Given the description of an element on the screen output the (x, y) to click on. 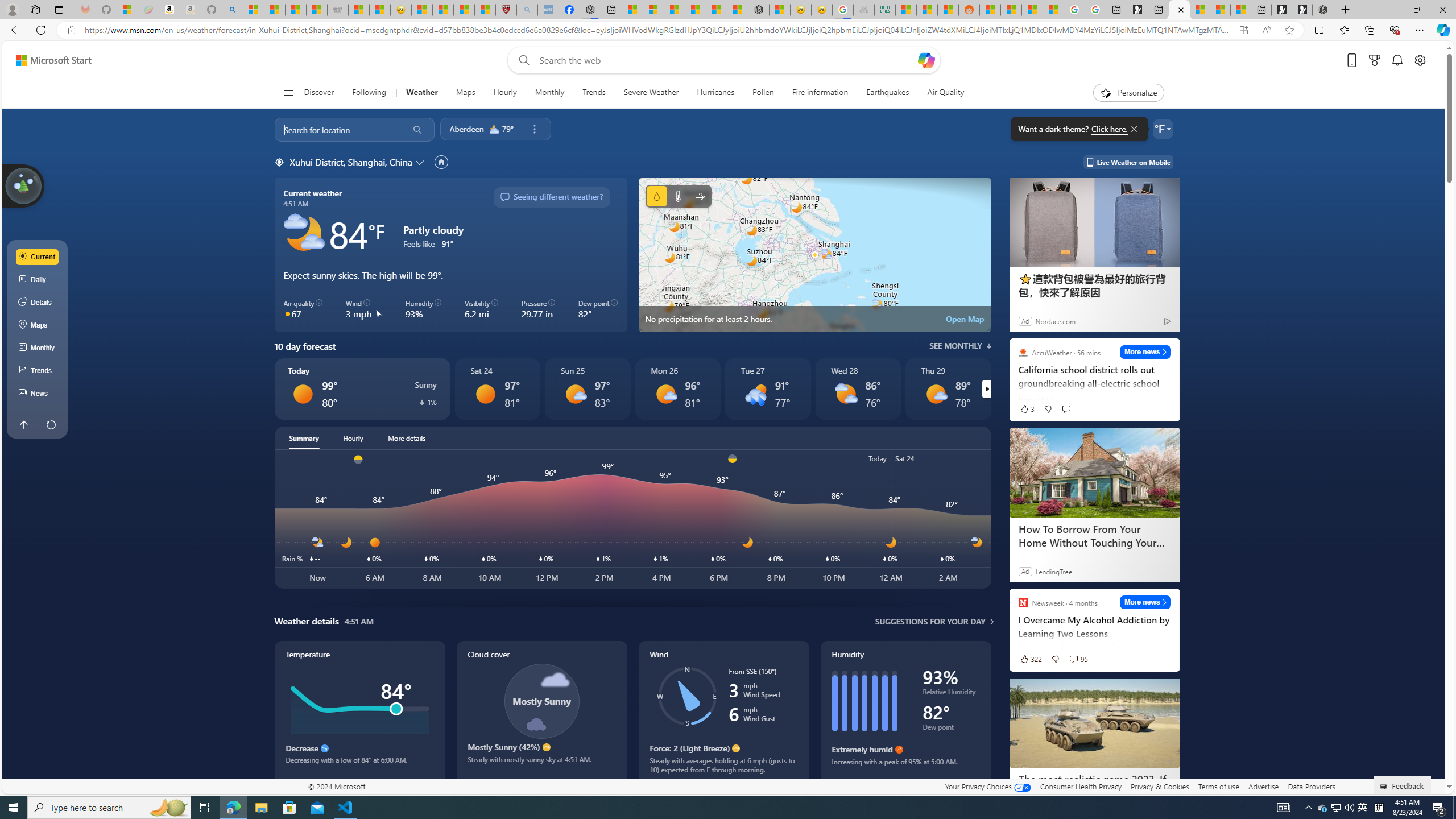
Terms of use (1218, 786)
No precipitation for at least 2 hours (814, 254)
Join us in planting real trees to help our planet! (23, 184)
Microsoft-Report a Concern to Bing (127, 9)
Microsoft account | Privacy (652, 9)
NCL Adult Asthma Inhaler Choice Guideline - Sleeping (547, 9)
Change location (420, 161)
Open Copilot (926, 59)
Microsoft Start Gaming (1137, 9)
Following (370, 92)
Microsoft rewards (1374, 60)
